Given the description of an element on the screen output the (x, y) to click on. 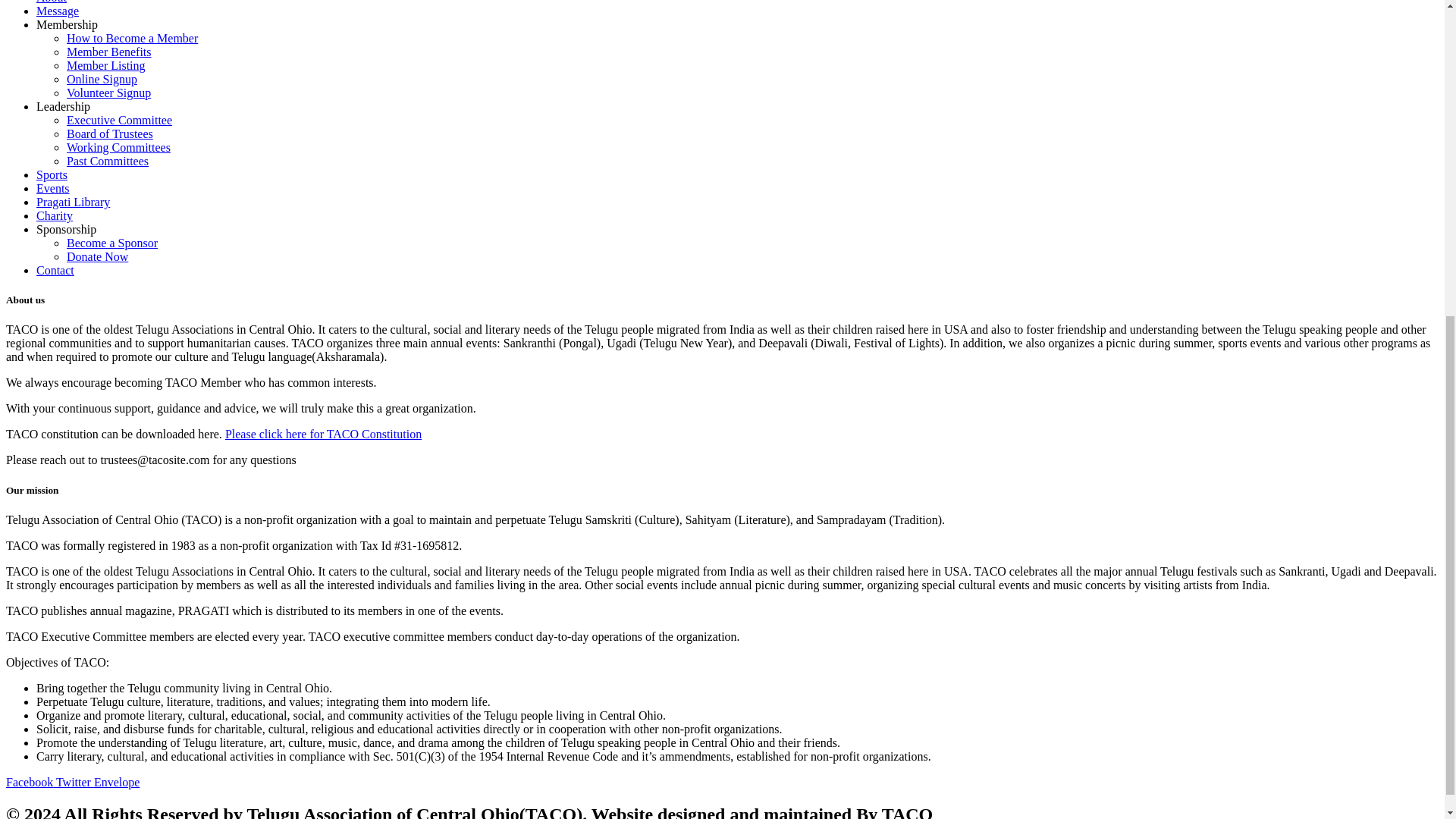
Leadership (63, 106)
How to Become a Member (132, 38)
Online Signup (101, 78)
Executive Committee (118, 119)
Working Committees (118, 146)
Volunteer Signup (108, 92)
About (51, 2)
Member Listing (105, 65)
Member Benefits (108, 51)
Message (57, 10)
